Given the description of an element on the screen output the (x, y) to click on. 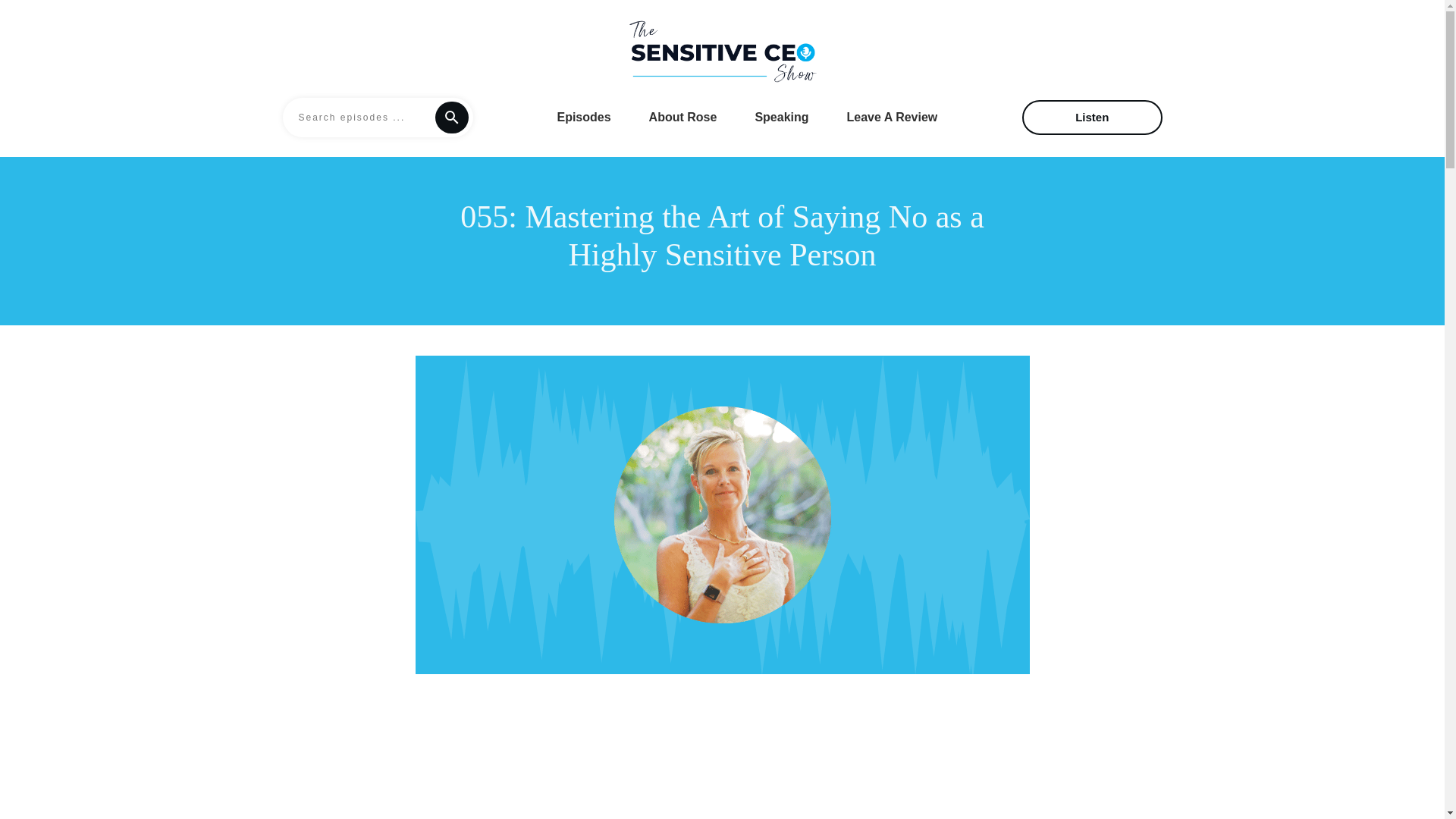
Episodes (583, 117)
Listen (1091, 117)
About Rose (683, 117)
Leave A Review (892, 117)
Speaking (781, 117)
